Given the description of an element on the screen output the (x, y) to click on. 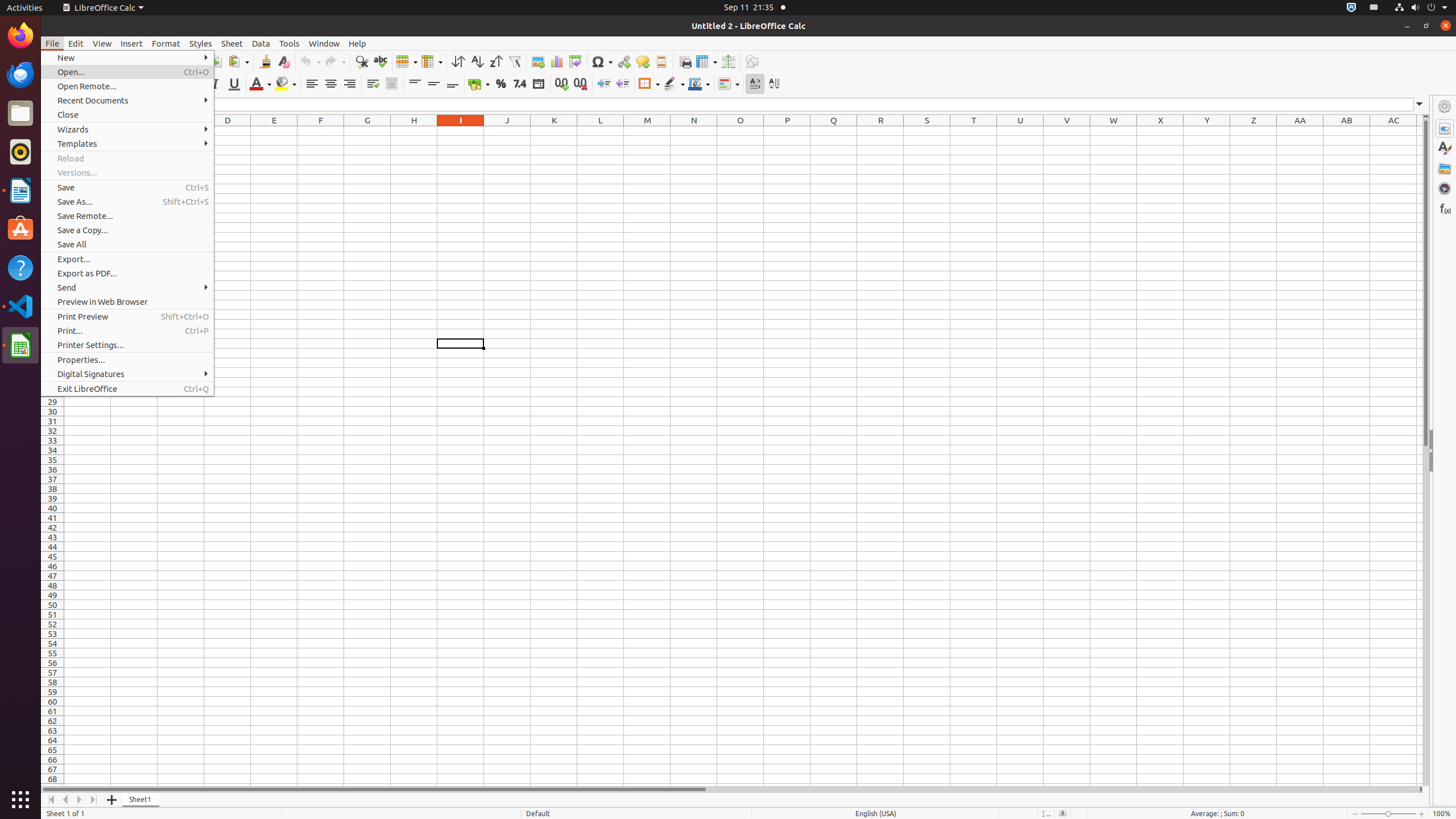
Border Style Element type: push-button (673, 83)
Sheet1 Element type: page-tab (140, 799)
File Element type: menu (51, 43)
X1 Element type: table-cell (1159, 130)
Expand Formula Bar Element type: push-button (1419, 104)
